Given the description of an element on the screen output the (x, y) to click on. 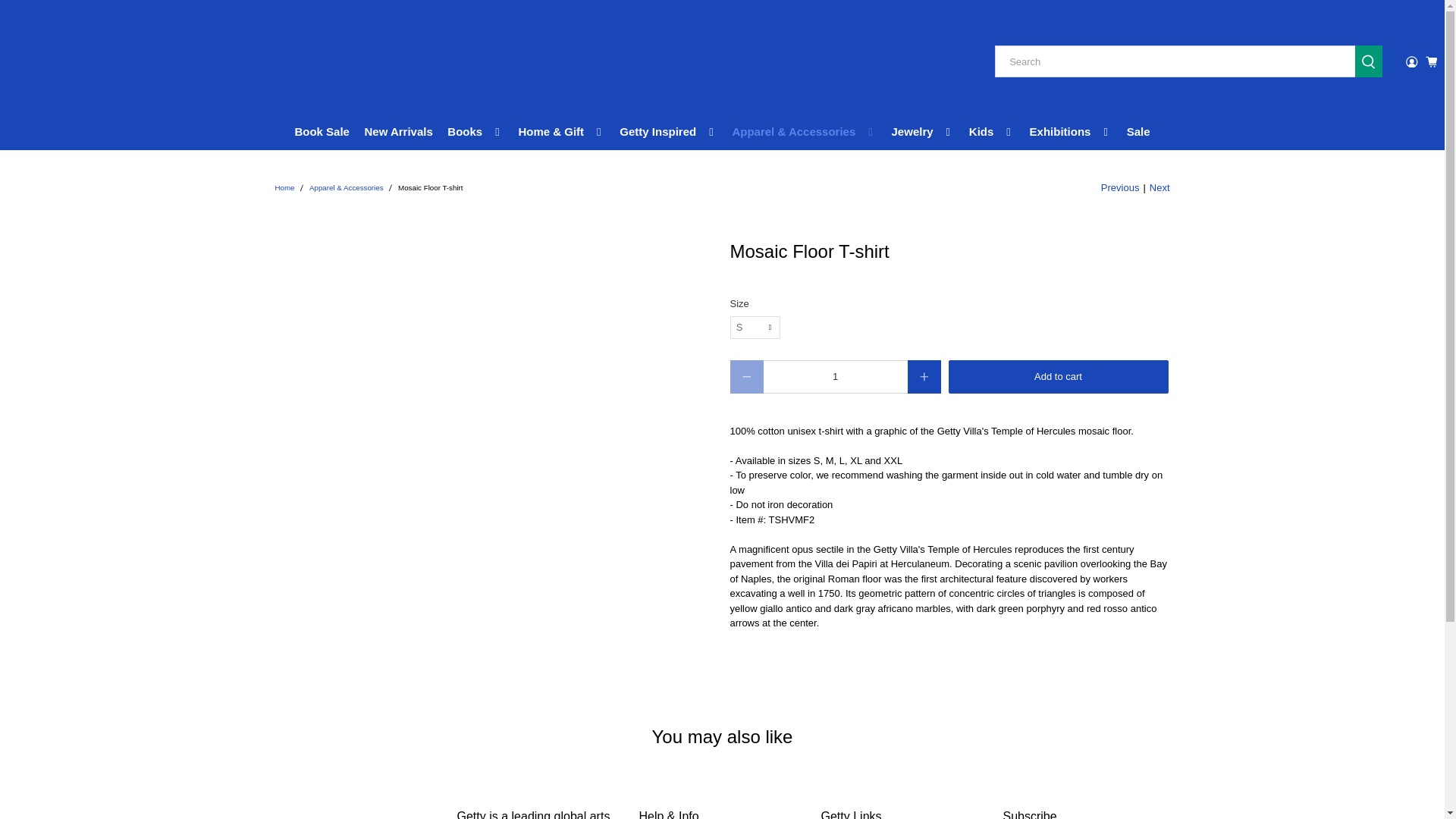
Previous (1120, 187)
Book Sale (321, 131)
1 (834, 376)
Getty Museum Store (284, 187)
New Arrivals (398, 131)
Next (1160, 187)
Getty Museum Store (82, 61)
Getty Museum Store (358, 813)
Books (476, 131)
Getty Inspired (668, 131)
